Given the description of an element on the screen output the (x, y) to click on. 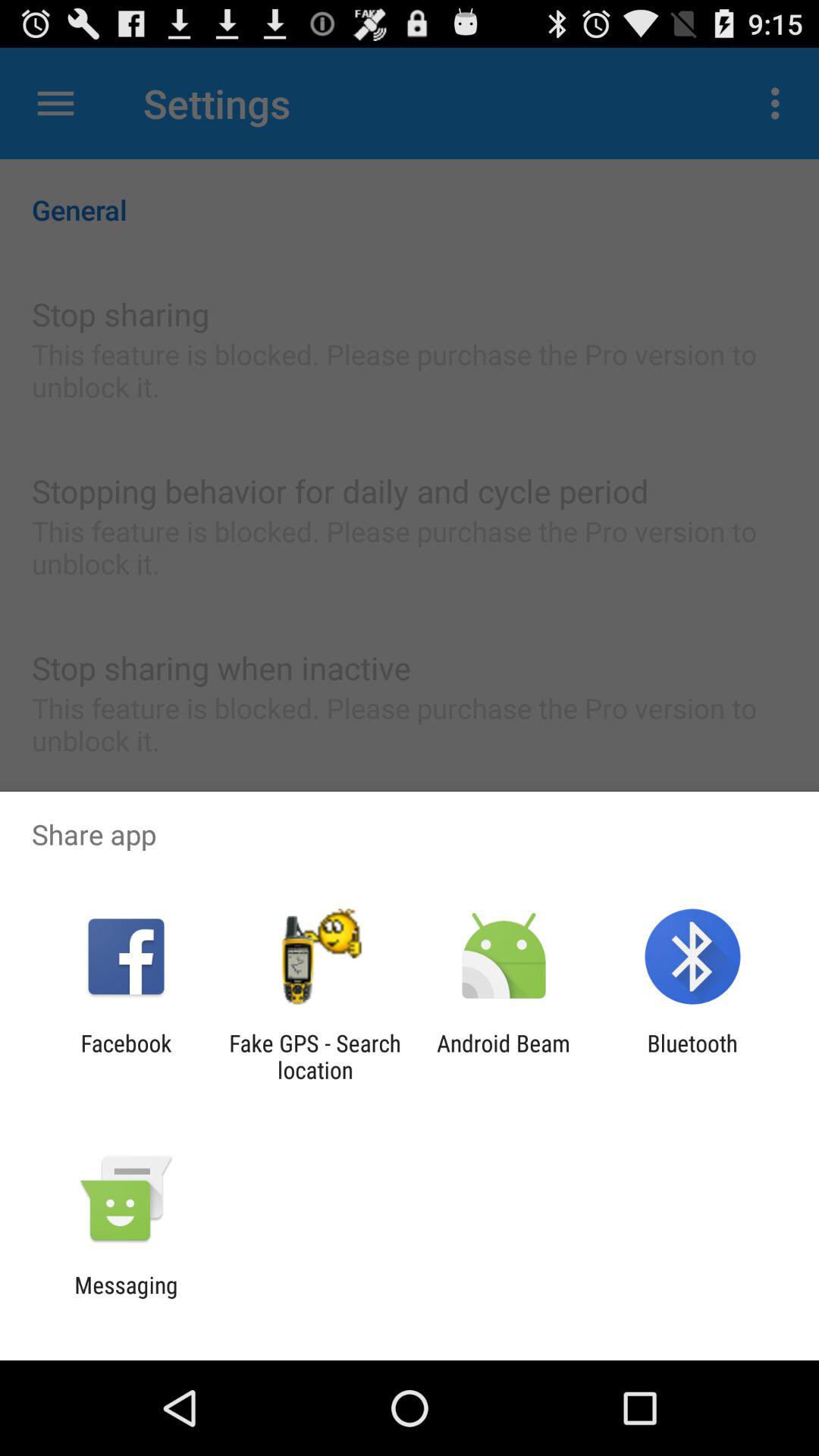
swipe until bluetooth (692, 1056)
